Given the description of an element on the screen output the (x, y) to click on. 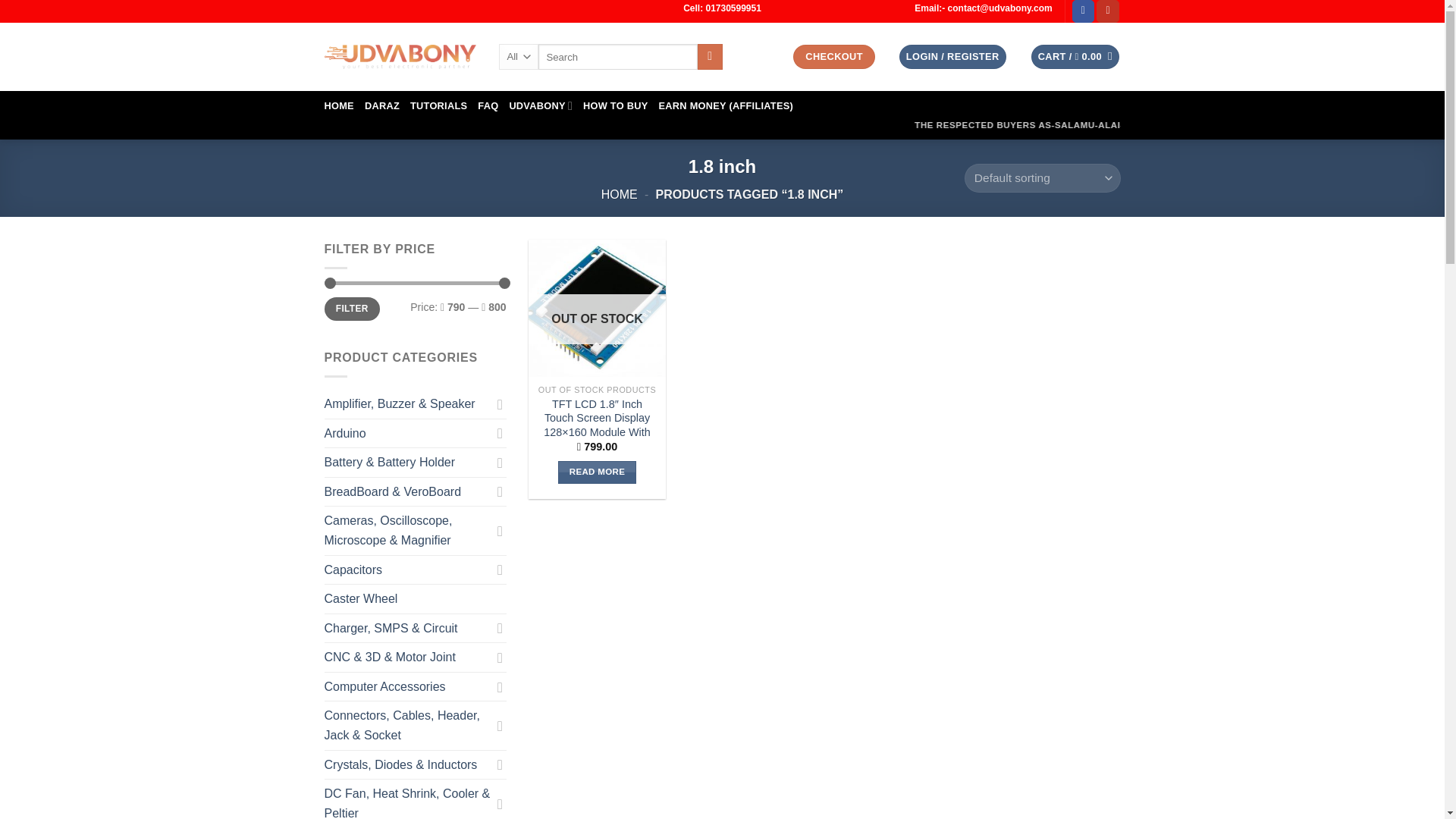
Search (709, 56)
HOW TO BUY (615, 106)
DARAZ (381, 106)
Cart (1074, 57)
UDVABONY (540, 105)
Follow on YouTube (1107, 11)
TUTORIALS (438, 106)
Follow on Facebook (1082, 11)
CHECKOUT (834, 57)
FAQ (487, 106)
